Given the description of an element on the screen output the (x, y) to click on. 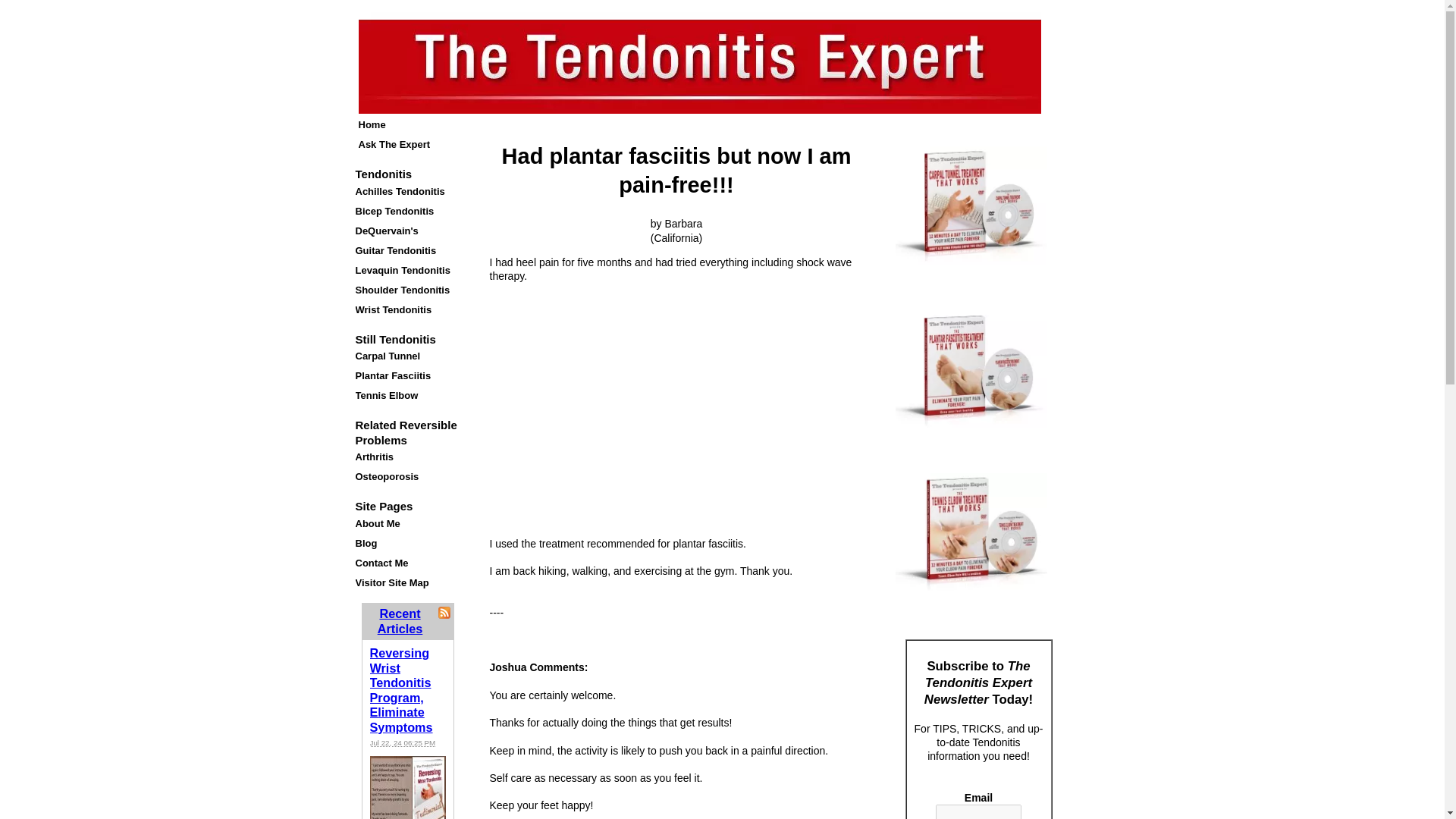
Plantar Fasciitis (407, 375)
Shoulder Tendonitis (407, 290)
Blog (407, 543)
Advertisement (675, 413)
2024-07-22T18:25:27-0400 (402, 742)
DeQuervain's (407, 230)
Recent Articles (400, 620)
Bicep Tendonitis (407, 211)
Carpal Tunnel Syndrome (407, 356)
Arthritis (407, 456)
Achilles Tendonitis (407, 191)
Guitar Tendonitis (407, 250)
Osteoporosis (407, 476)
Home (407, 125)
Wrist Tendonitis (407, 310)
